Given the description of an element on the screen output the (x, y) to click on. 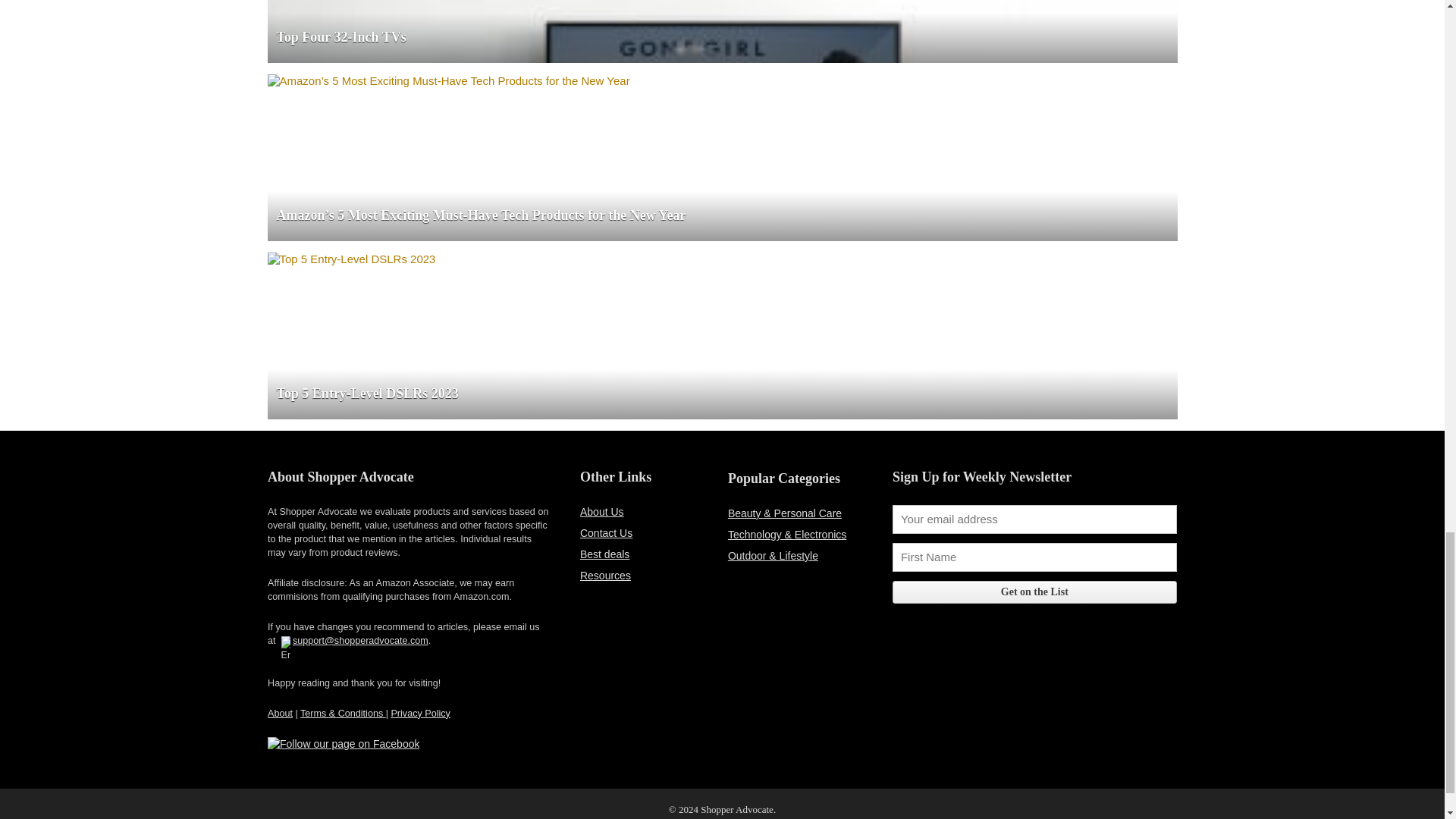
Top 5 Entry-Level DSLRs 2023 (350, 258)
Resources (604, 575)
Get on the List (1034, 591)
Privacy Policy (419, 713)
Get on the List (1034, 591)
About (279, 713)
About Us (601, 511)
Best deals (603, 553)
Contact Us (605, 532)
